Given the description of an element on the screen output the (x, y) to click on. 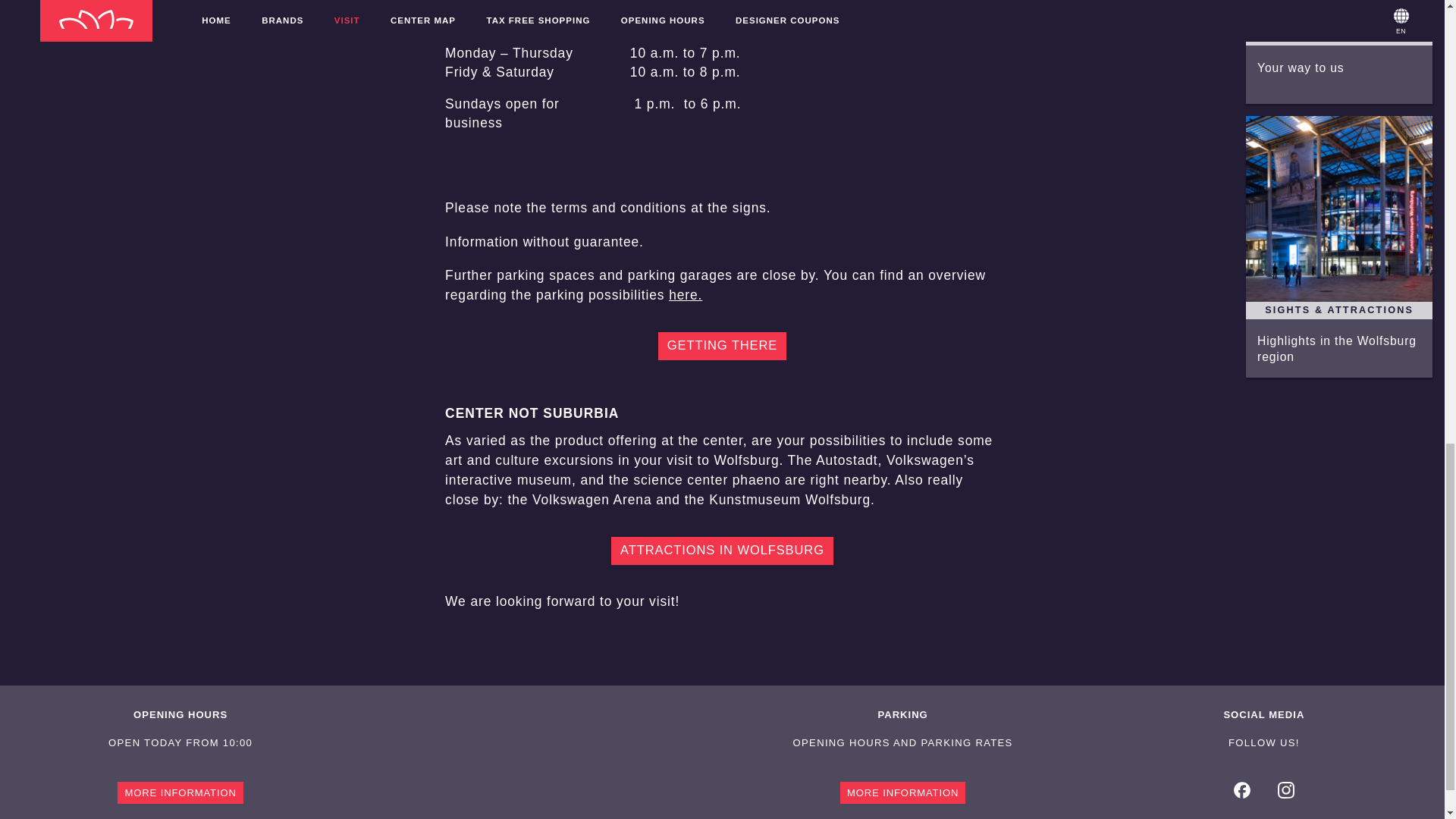
GETTING THERE (722, 345)
here. (684, 294)
ATTRACTIONS IN WOLFSBURG (721, 550)
MORE INFORMATION (180, 792)
MORE INFORMATION (903, 792)
